Given the description of an element on the screen output the (x, y) to click on. 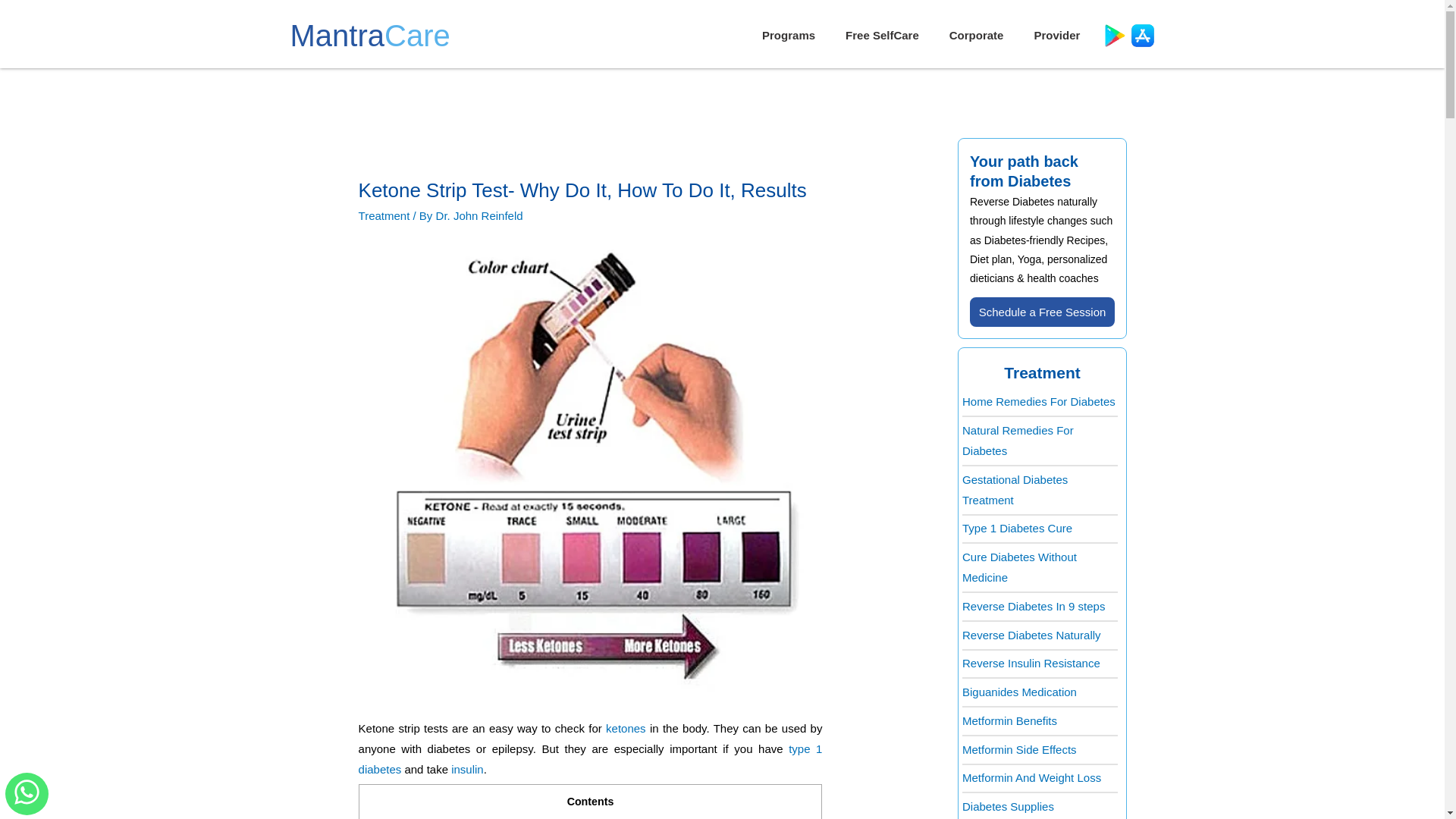
Provider (1055, 35)
type 1 diabetes (590, 758)
MantraCare (369, 35)
View all posts by Dr. John Reinfeld (478, 215)
Programs (787, 35)
ketones (625, 727)
insulin (467, 768)
Corporate (976, 35)
Free SelfCare (881, 35)
